Given the description of an element on the screen output the (x, y) to click on. 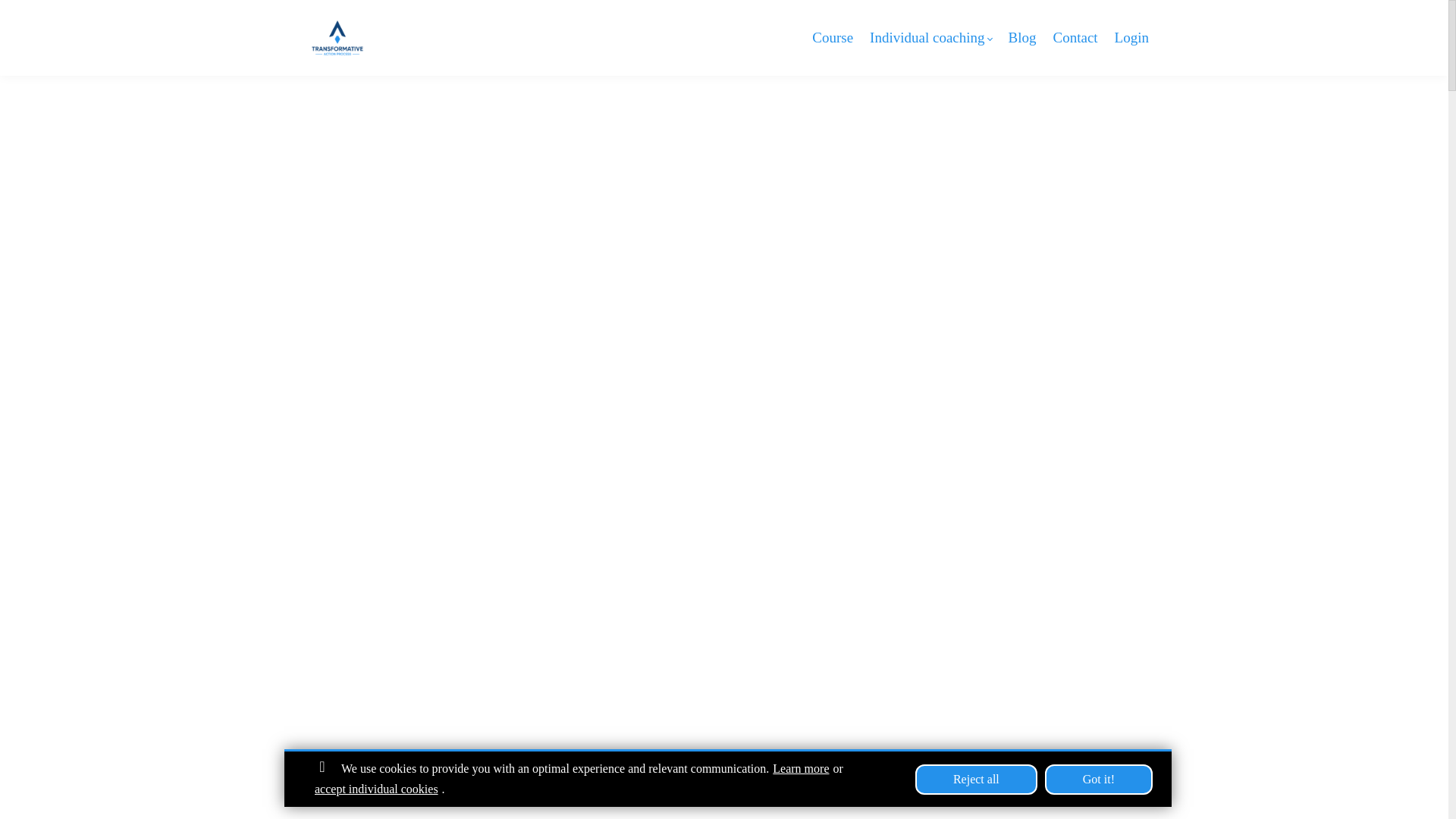
Login (1131, 37)
Course (832, 37)
Individual coaching (930, 37)
Contact (1074, 37)
Blog (1022, 37)
